Given the description of an element on the screen output the (x, y) to click on. 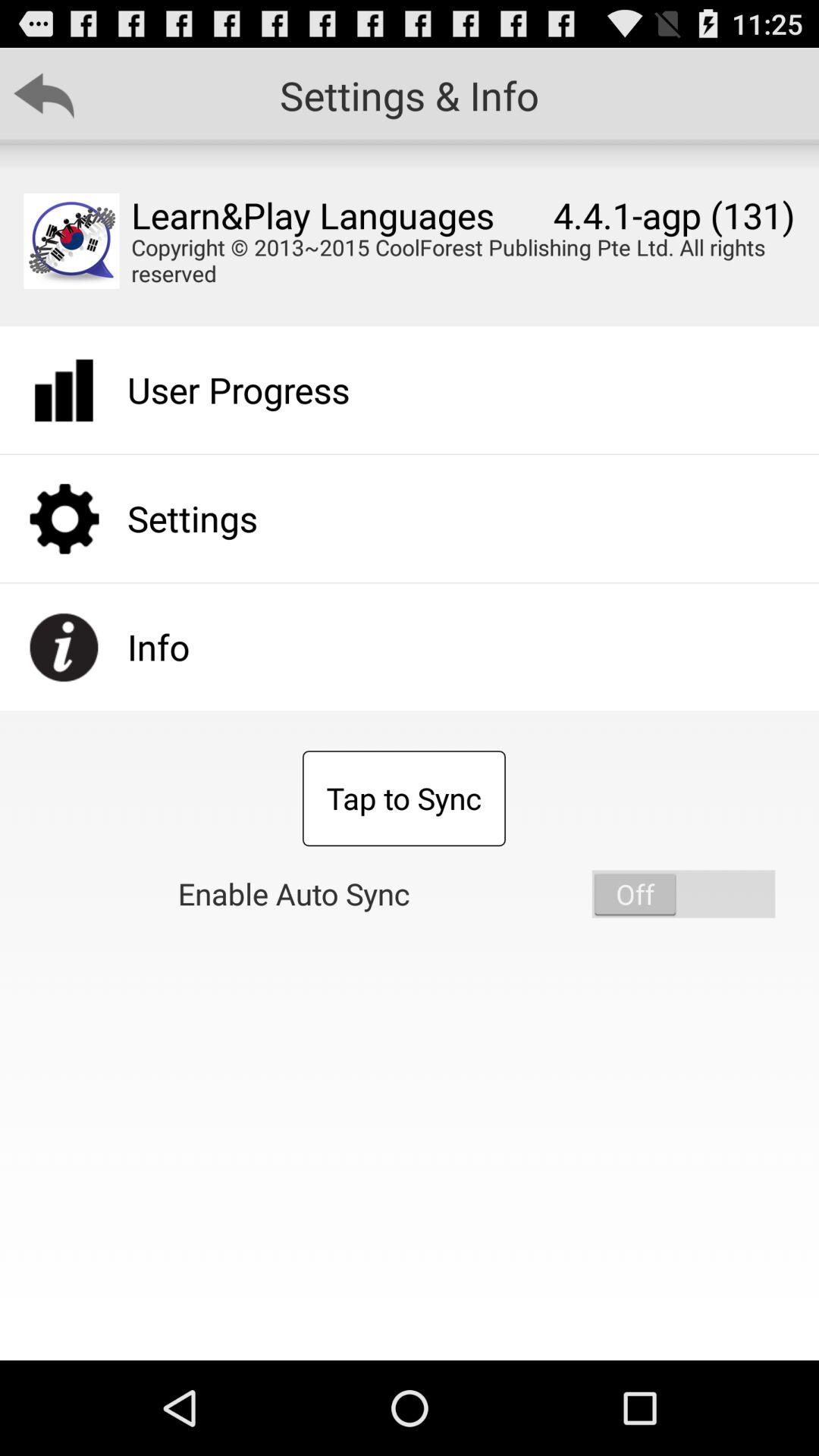
tap the item below the copyright 2013 2015 icon (683, 893)
